Given the description of an element on the screen output the (x, y) to click on. 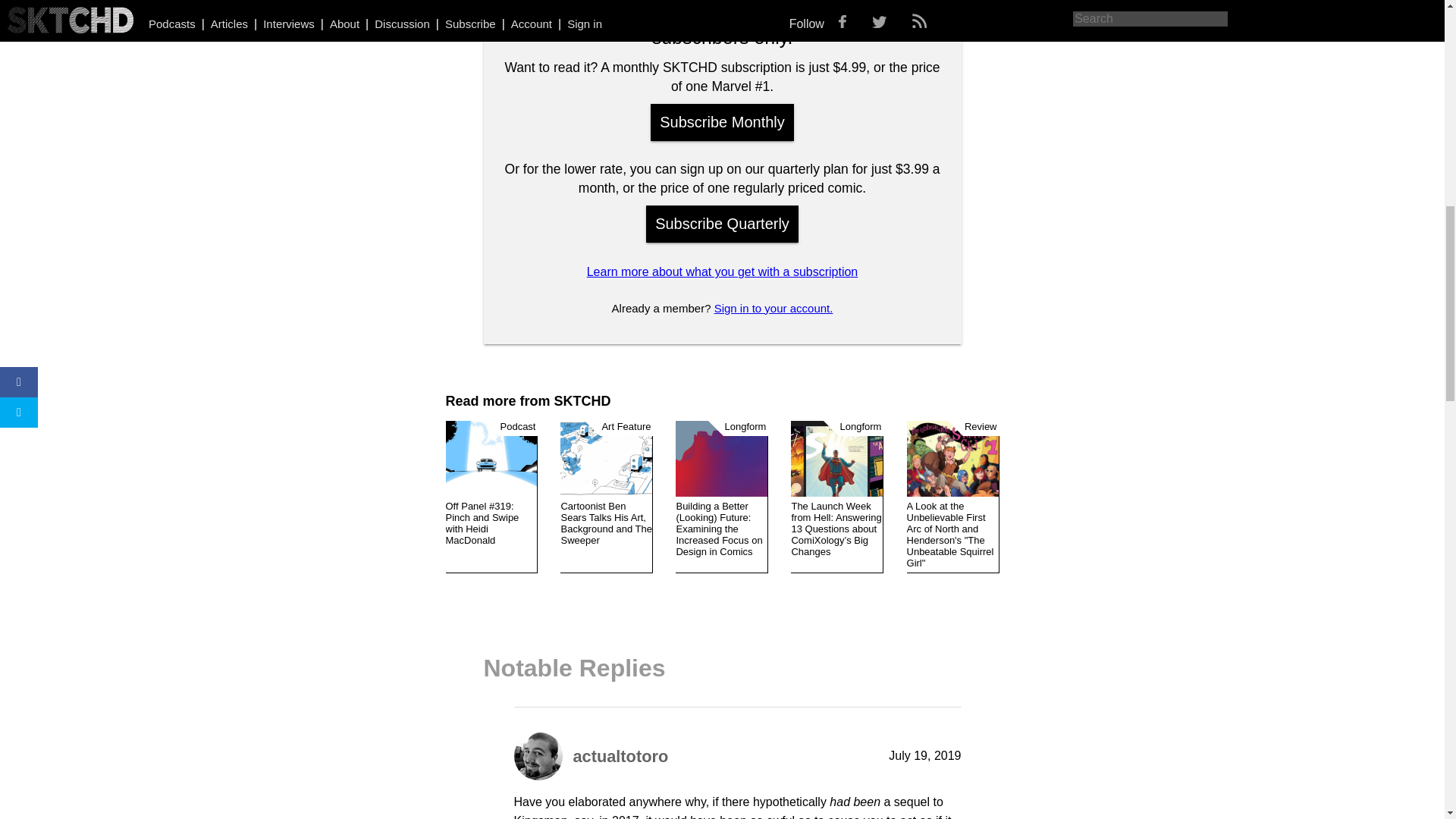
Subscribe Quarterly (721, 223)
actualtotoro (620, 755)
Sign in to your account. (773, 308)
Learn more about what you get with a subscription (722, 271)
Subscribe Monthly (721, 122)
